Given the description of an element on the screen output the (x, y) to click on. 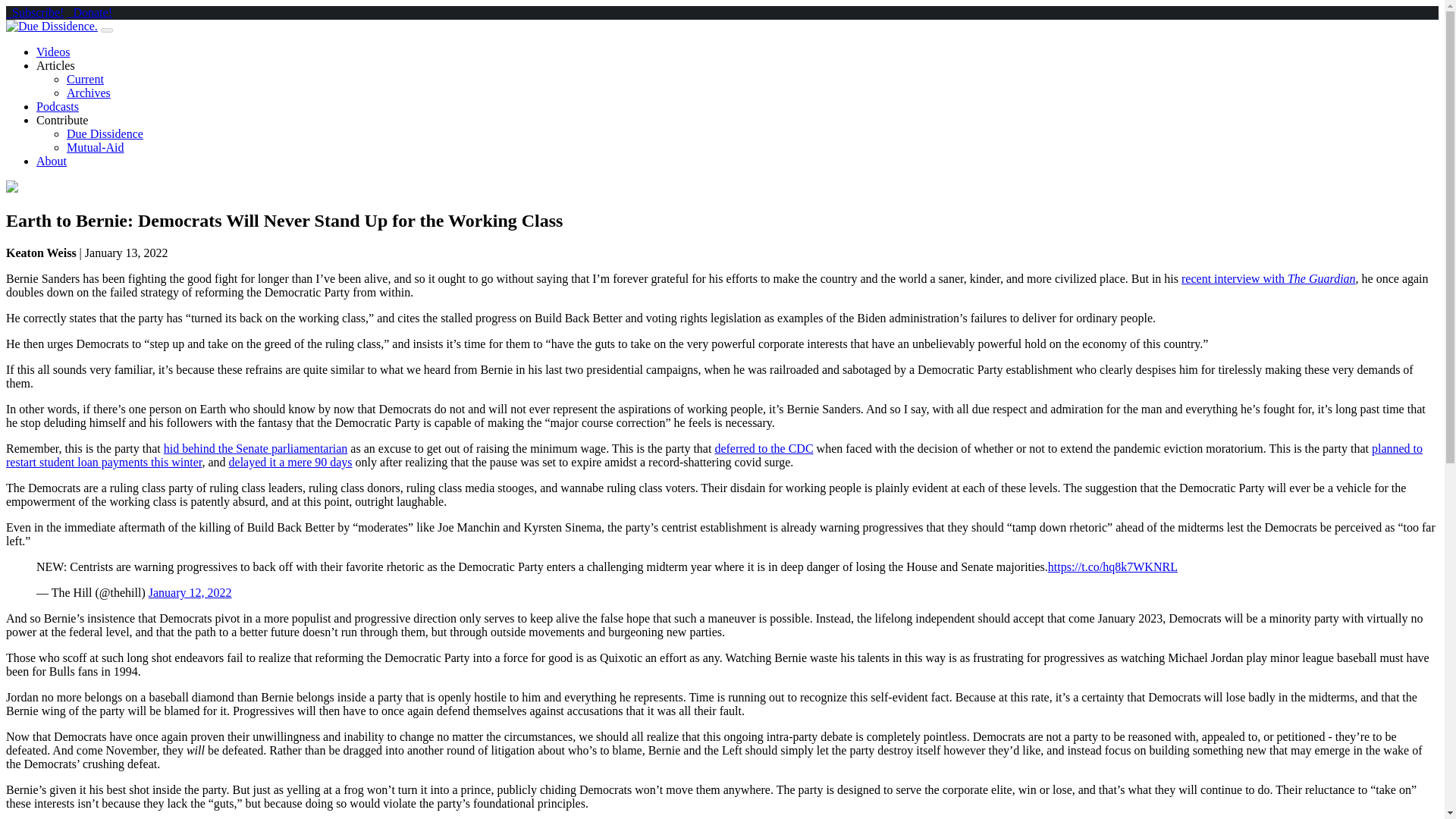
hid behind the Senate parliamentarian (255, 448)
Current (84, 78)
January 12, 2022 (189, 592)
Due Dissidence (104, 133)
recent interview with The Guardian (1267, 278)
Articles (55, 65)
planned to restart student loan payments this winter (713, 455)
Archives (88, 92)
About (51, 160)
Contribute (61, 119)
deferred to the CDC (763, 448)
Mutual-Aid (94, 146)
delayed it a mere 90 days (290, 461)
Videos (52, 51)
  Subscribe! (34, 11)
